Given the description of an element on the screen output the (x, y) to click on. 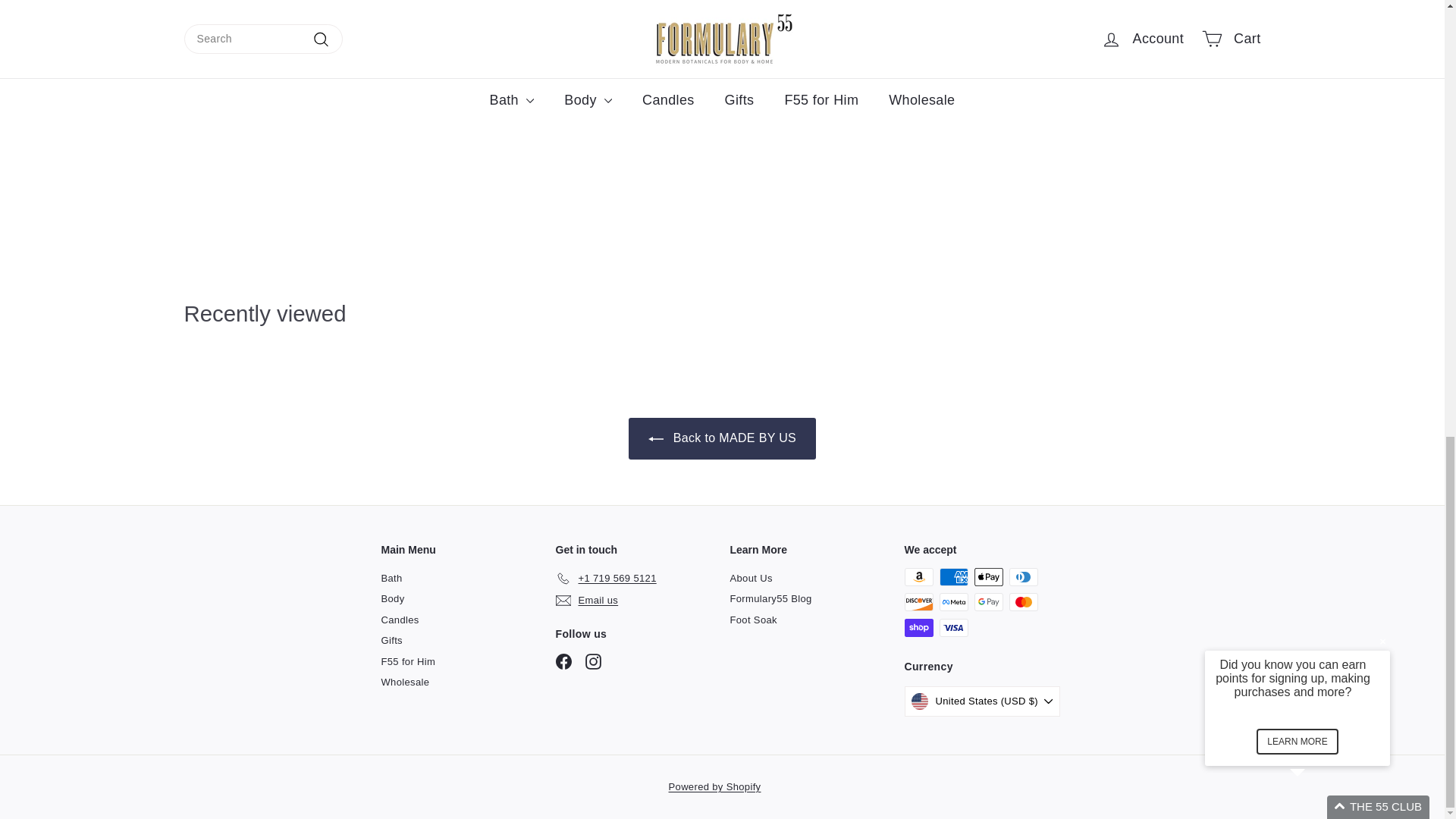
Apple Pay (988, 577)
icon-left-arrow (655, 438)
Amazon (918, 577)
instagram (593, 661)
Diners Club (1022, 577)
American Express (953, 577)
Formulary 55 on Instagram (593, 661)
Formulary 55 on Facebook (562, 661)
